Given the description of an element on the screen output the (x, y) to click on. 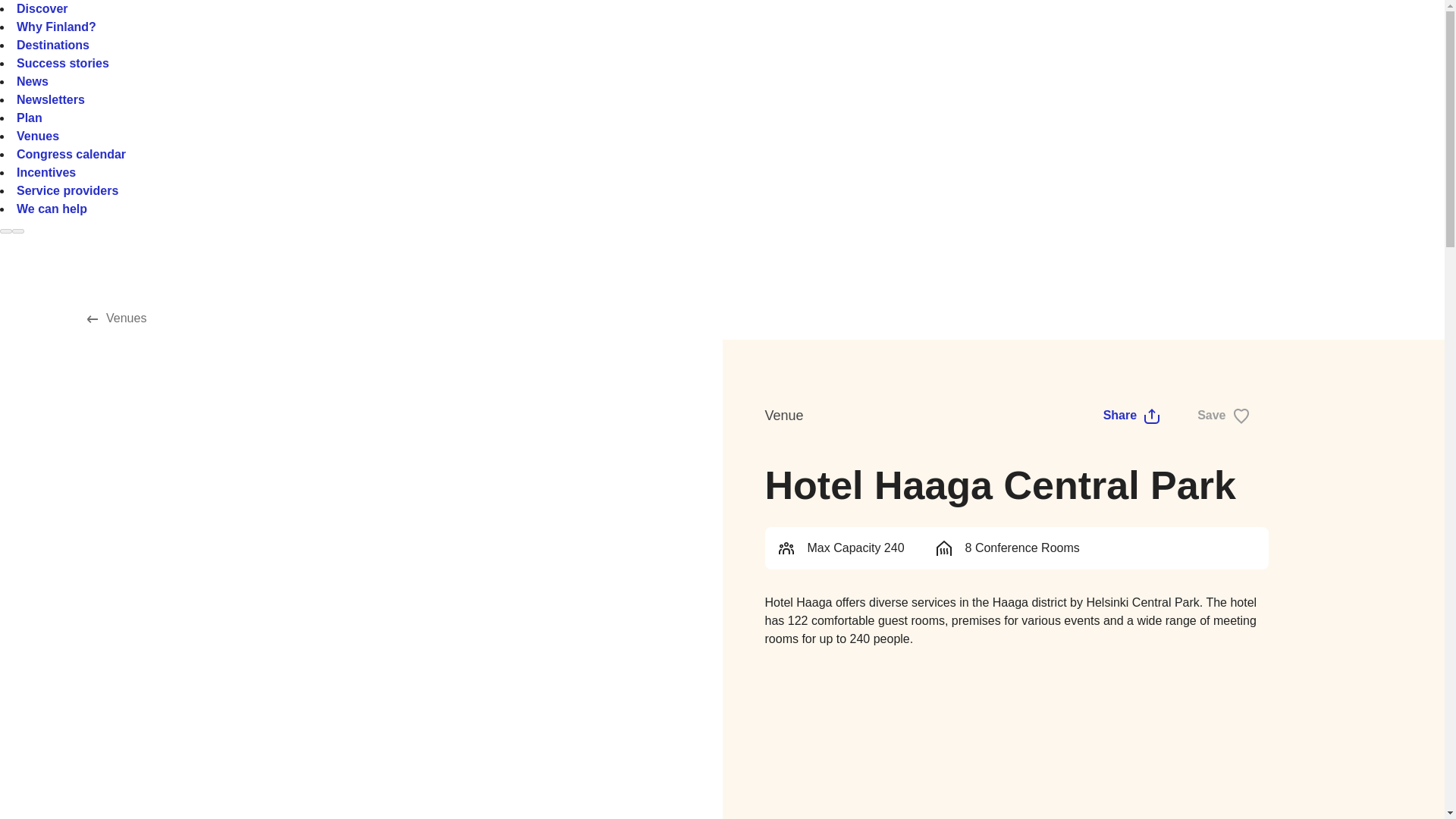
Destinations (52, 44)
Newsletters (50, 99)
Success stories (62, 62)
Why Finland? (56, 26)
Service providers (66, 190)
Discover (42, 8)
Venues (37, 135)
Venues (118, 318)
Plan (29, 117)
Congress calendar (70, 154)
We can help (51, 208)
Incentives (45, 172)
News (32, 81)
